Given the description of an element on the screen output the (x, y) to click on. 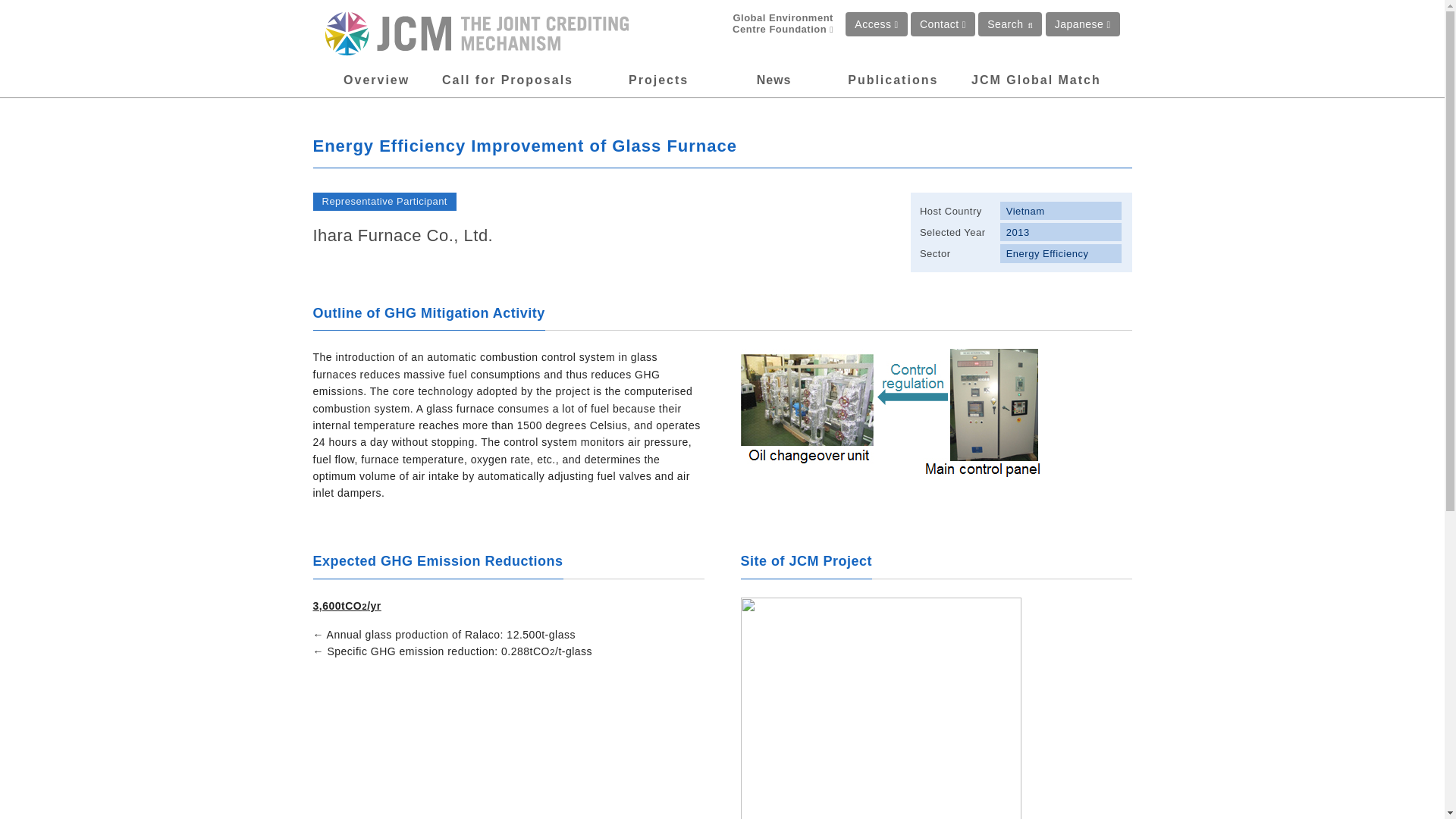
News (773, 79)
Projects (658, 79)
2013 (1061, 231)
Overview (376, 79)
Japanese (1082, 24)
Call for Proposals (508, 79)
Energy Efficiency (1061, 253)
Access (876, 24)
Vietnam (1061, 210)
Contact (943, 24)
